Given the description of an element on the screen output the (x, y) to click on. 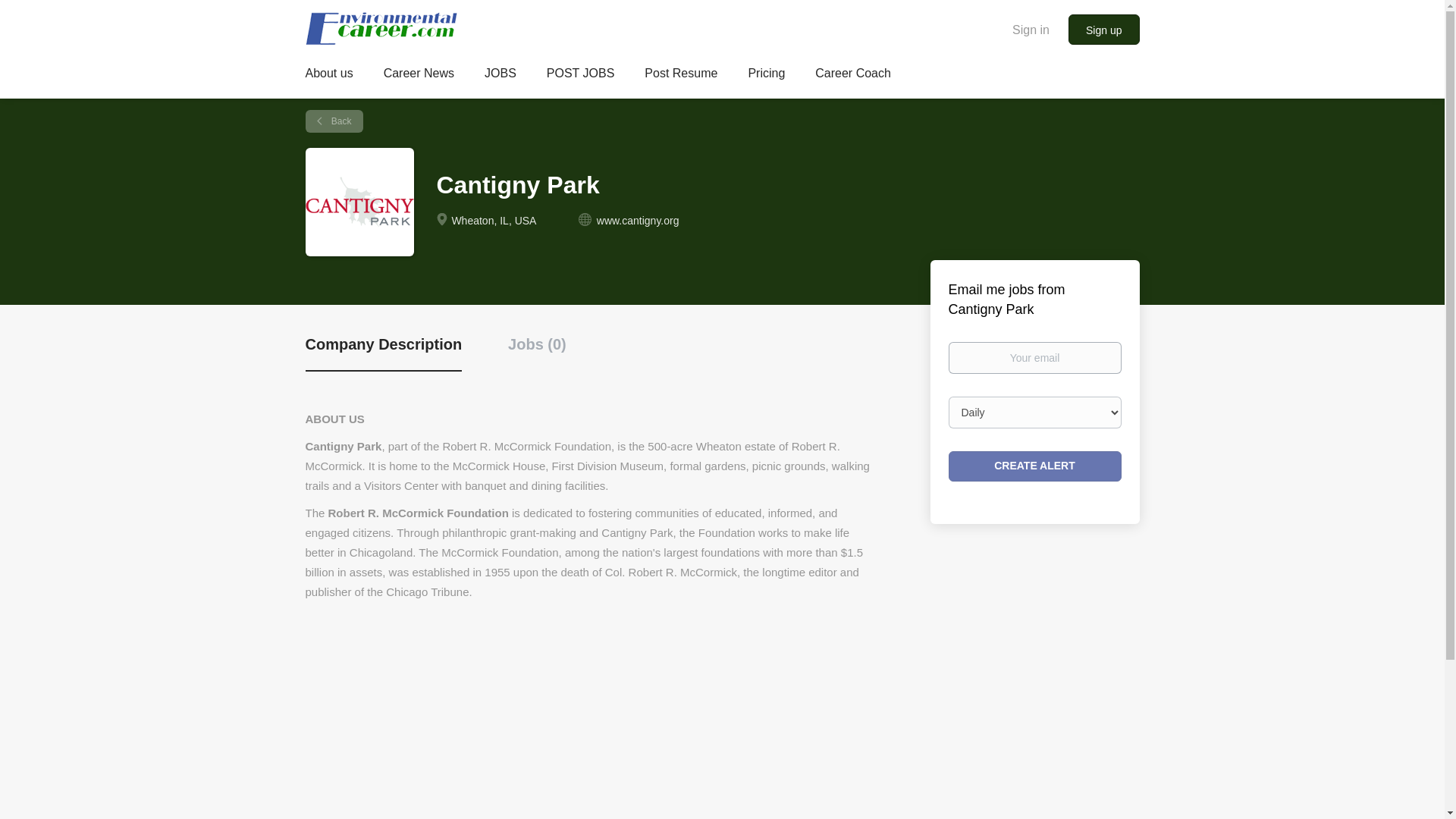
Create alert (1034, 466)
Pricing (766, 75)
www.cantigny.org (637, 220)
Sign up (1103, 29)
Sign in (1031, 28)
Career Coach (853, 75)
Back (333, 120)
JOBS (500, 75)
Career News (419, 75)
Post Resume (681, 75)
POST JOBS (580, 75)
Create alert (1034, 466)
About us (328, 75)
Company Description (382, 352)
